Given the description of an element on the screen output the (x, y) to click on. 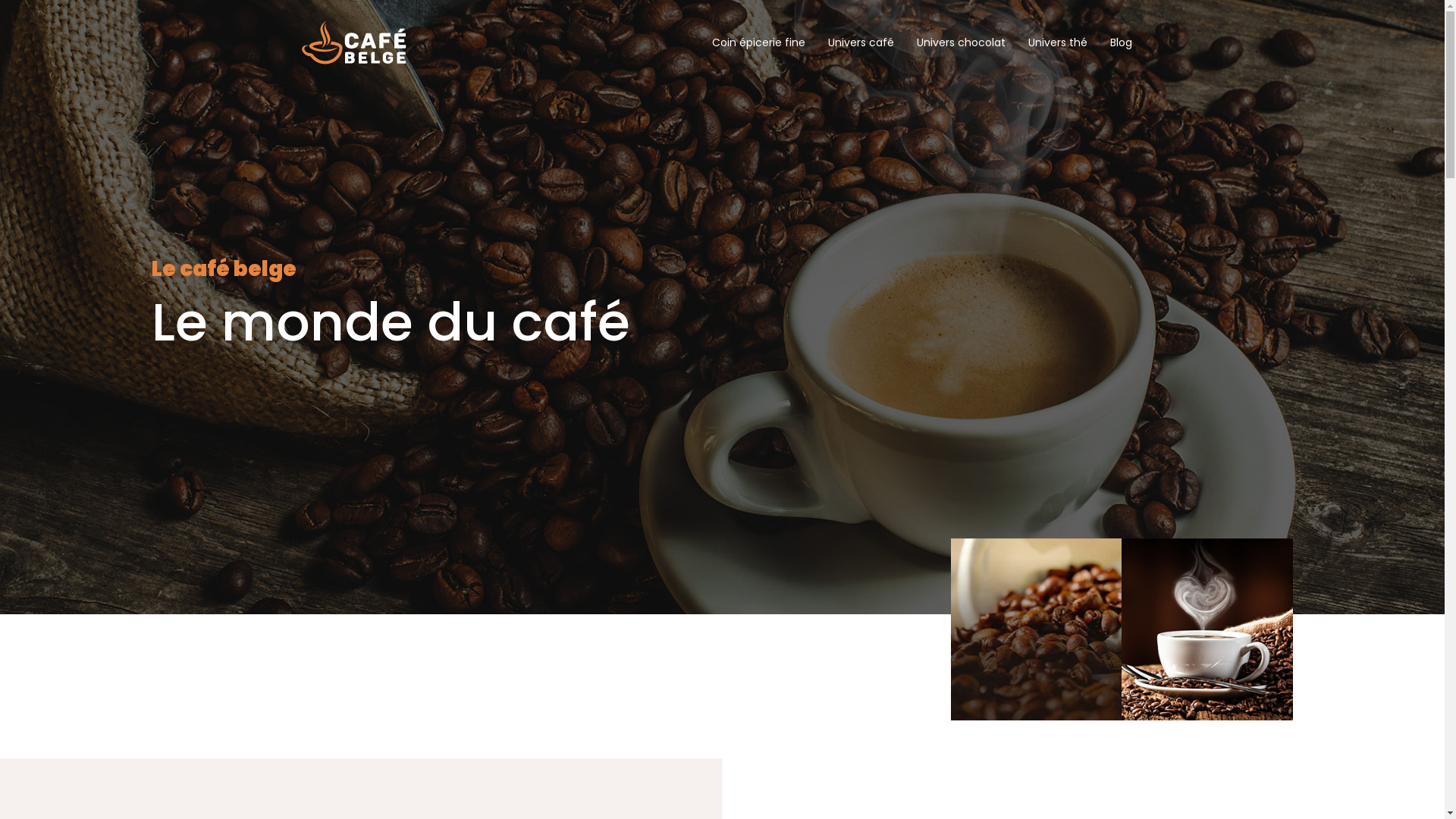
Univers chocolat Element type: text (960, 42)
Blog Element type: text (1121, 42)
